Given the description of an element on the screen output the (x, y) to click on. 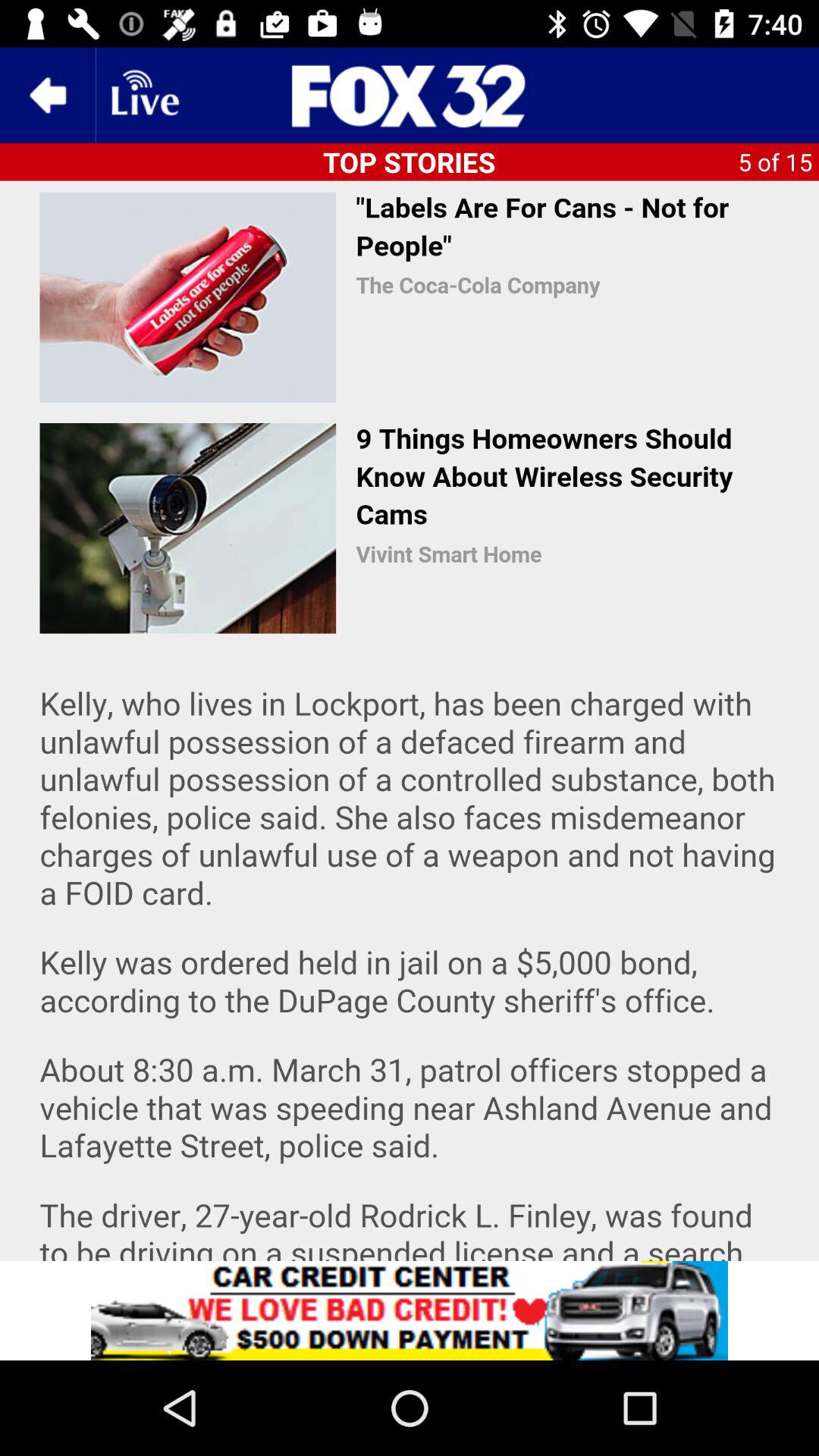
share the article (409, 1310)
